Given the description of an element on the screen output the (x, y) to click on. 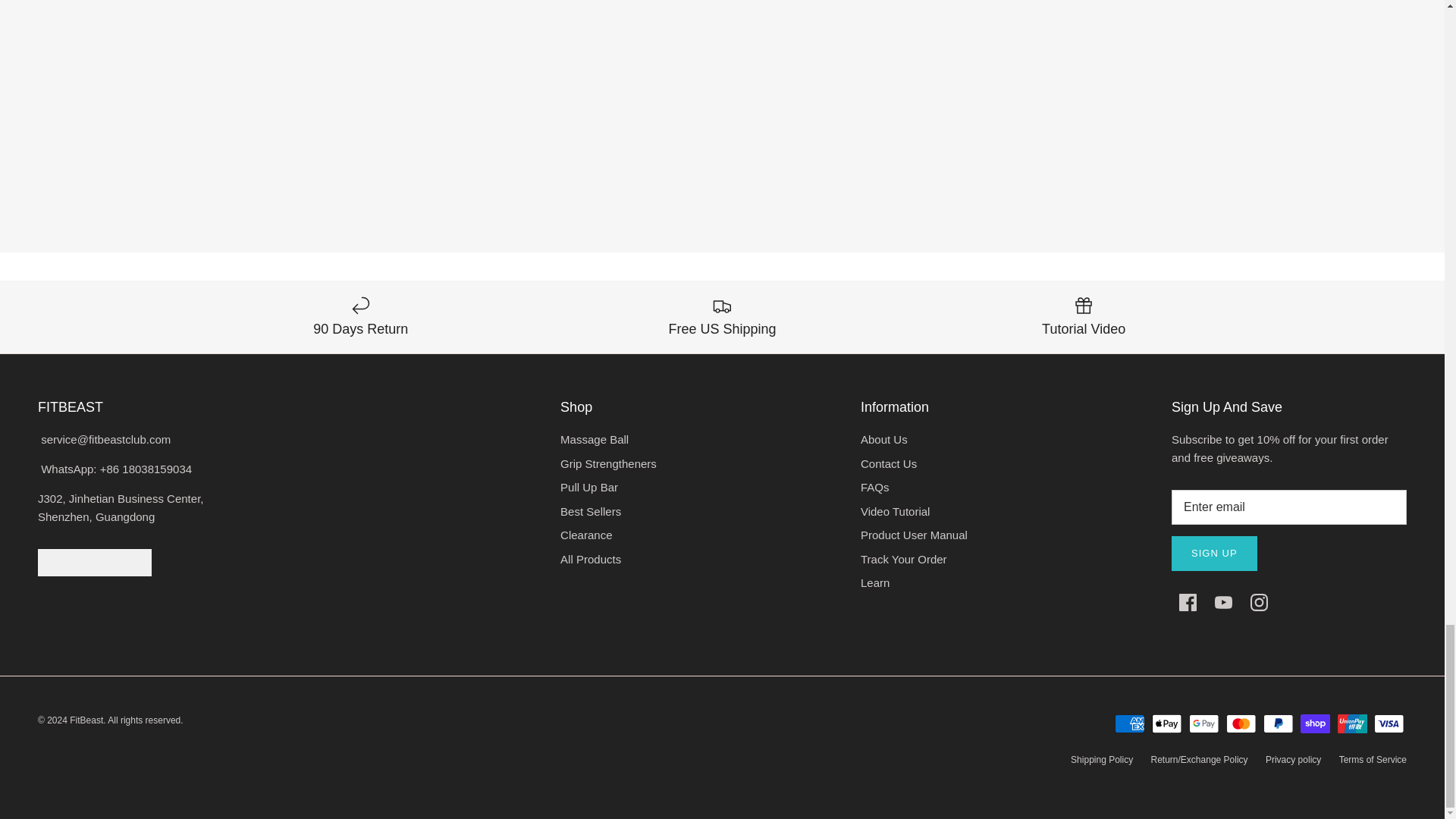
Facebook (1187, 601)
Apple Pay (1166, 723)
Google Pay (1203, 723)
Instagram (1259, 601)
Youtube (1222, 601)
American Express (1129, 723)
